Given the description of an element on the screen output the (x, y) to click on. 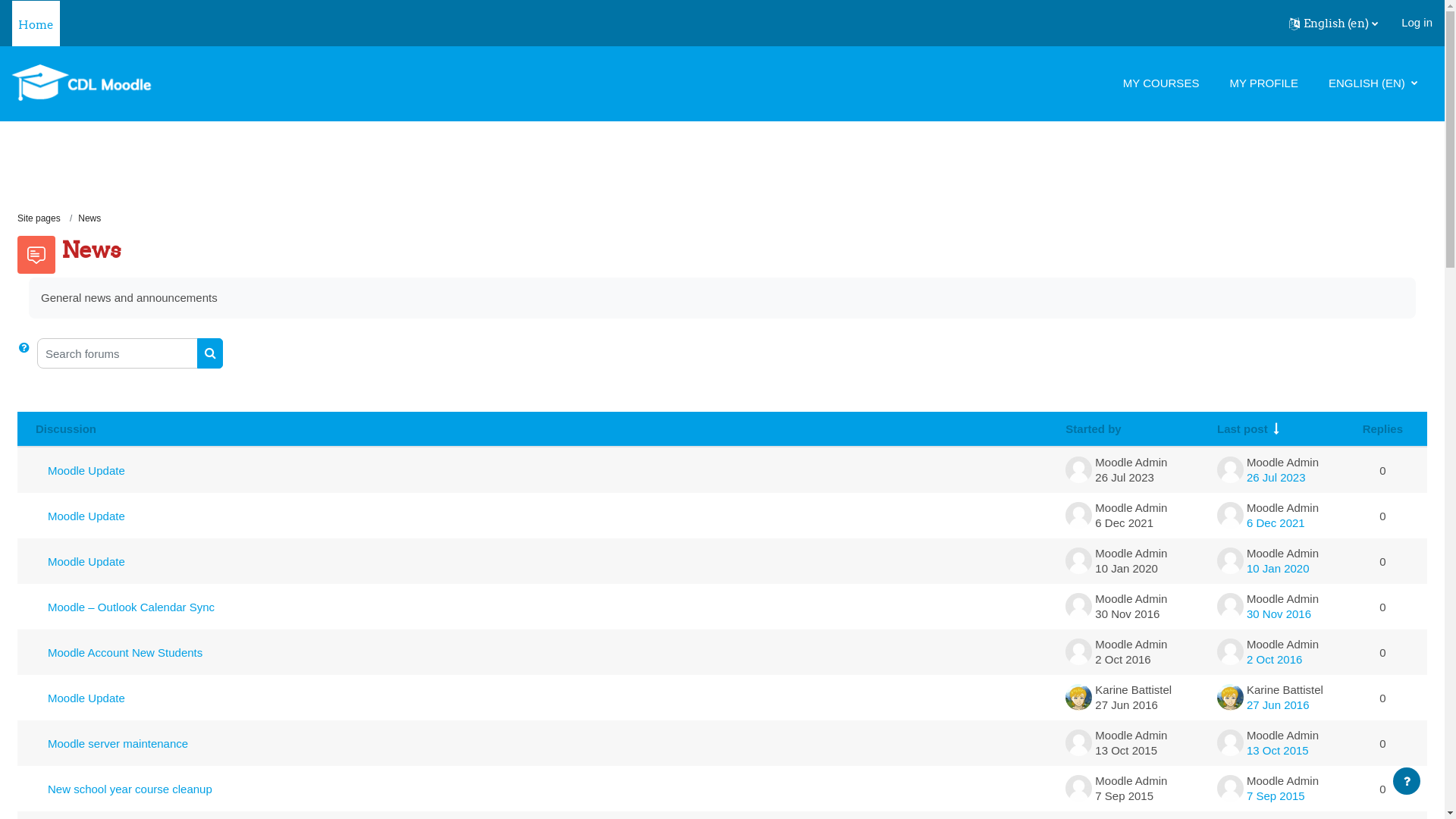
New school year course cleanup Element type: text (544, 789)
Picture of Moodle Admin Element type: hover (1078, 606)
English (en) Element type: text (1333, 23)
Log in Element type: text (1416, 22)
Moodle server maintenance Element type: text (544, 743)
Replies Element type: text (1382, 428)
ENGLISH (EN) Element type: text (1373, 83)
Picture of Moodle Admin Element type: hover (1078, 788)
Picture of Moodle Admin Element type: hover (1230, 606)
MY COURSES Element type: text (1160, 83)
7 Sep 2015 Element type: text (1275, 795)
Moodle Update Element type: text (544, 698)
Picture of Moodle Admin Element type: hover (1230, 651)
MY PROFILE Element type: text (1263, 83)
Descending Element type: hover (1276, 428)
Moodle Update Element type: text (544, 516)
Help with Search Element type: hover (24, 347)
Picture of Karine Battistel Element type: hover (1078, 697)
Picture of Moodle Admin Element type: hover (1078, 560)
10 Jan 2020 Element type: text (1277, 567)
Moodle Account New Students Element type: text (544, 652)
2 Oct 2016 Element type: text (1274, 658)
26 Jul 2023 Element type: text (1275, 476)
Discussion Element type: text (65, 428)
27 Jun 2016 Element type: text (1277, 704)
Picture of Moodle Admin Element type: hover (1230, 560)
Started by Element type: text (1092, 428)
Picture of Moodle Admin Element type: hover (1078, 515)
Home Element type: text (35, 22)
Site pages Element type: text (38, 218)
Picture of Moodle Admin Element type: hover (1078, 651)
Moodle Update Element type: text (544, 470)
Picture of Moodle Admin Element type: hover (1078, 742)
6 Dec 2021 Element type: text (1275, 522)
Picture of Moodle Admin Element type: hover (1230, 515)
Picture of Karine Battistel Element type: hover (1230, 697)
Picture of Moodle Admin Element type: hover (1230, 469)
Picture of Moodle Admin Element type: hover (1078, 469)
Picture of Moodle Admin Element type: hover (1230, 742)
SEARCH FORUMS Element type: text (209, 353)
13 Oct 2015 Element type: text (1277, 749)
30 Nov 2016 Element type: text (1278, 613)
Picture of Moodle Admin Element type: hover (1230, 788)
Moodle Update Element type: text (544, 561)
Last post Element type: text (1242, 428)
